Given the description of an element on the screen output the (x, y) to click on. 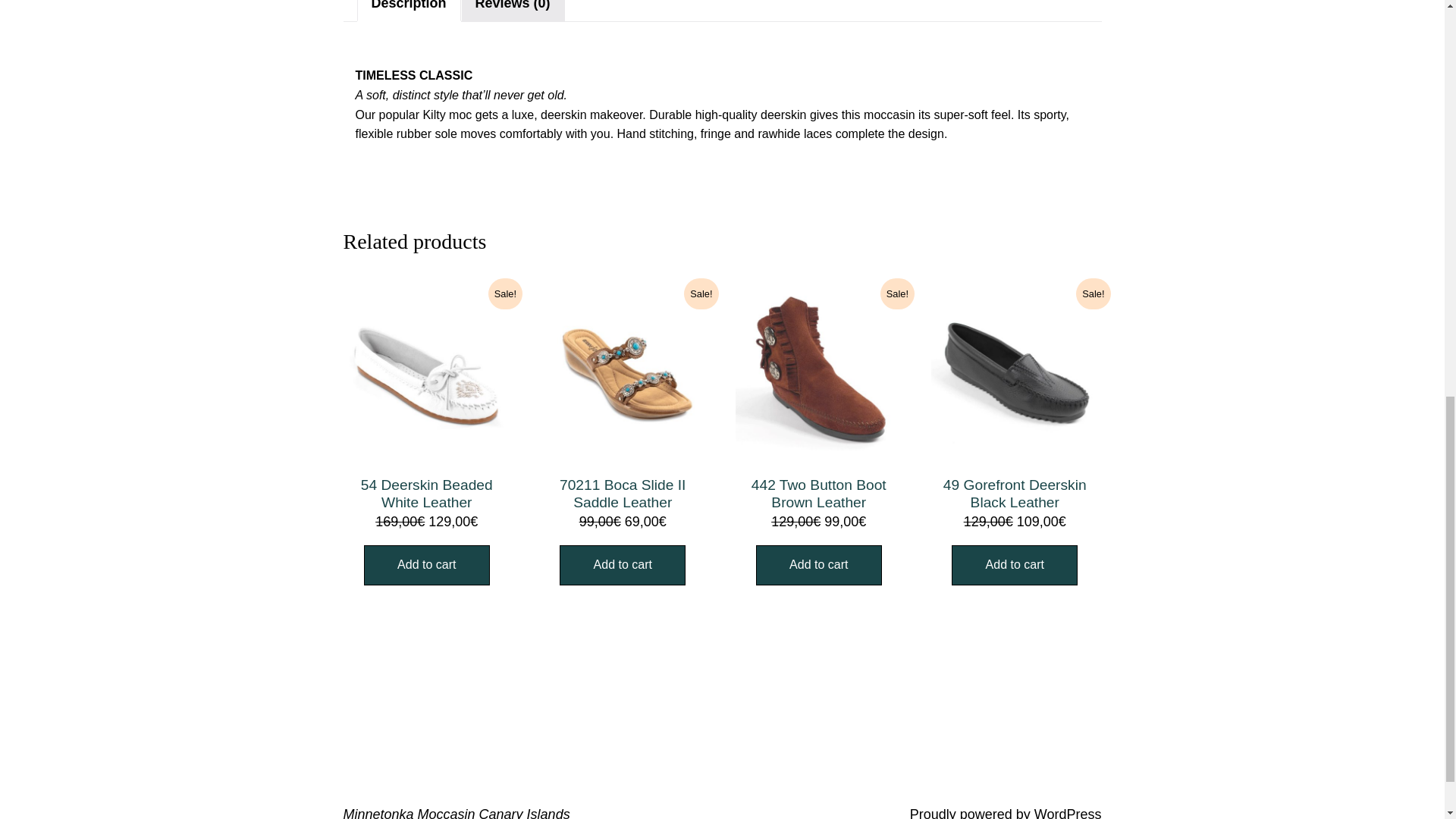
Add to cart (1014, 565)
Add to cart (818, 565)
Minnetonka Moccasin Canary Islands (455, 812)
WordPress (1067, 812)
Description (408, 5)
Add to cart (426, 565)
Add to cart (622, 565)
